Given the description of an element on the screen output the (x, y) to click on. 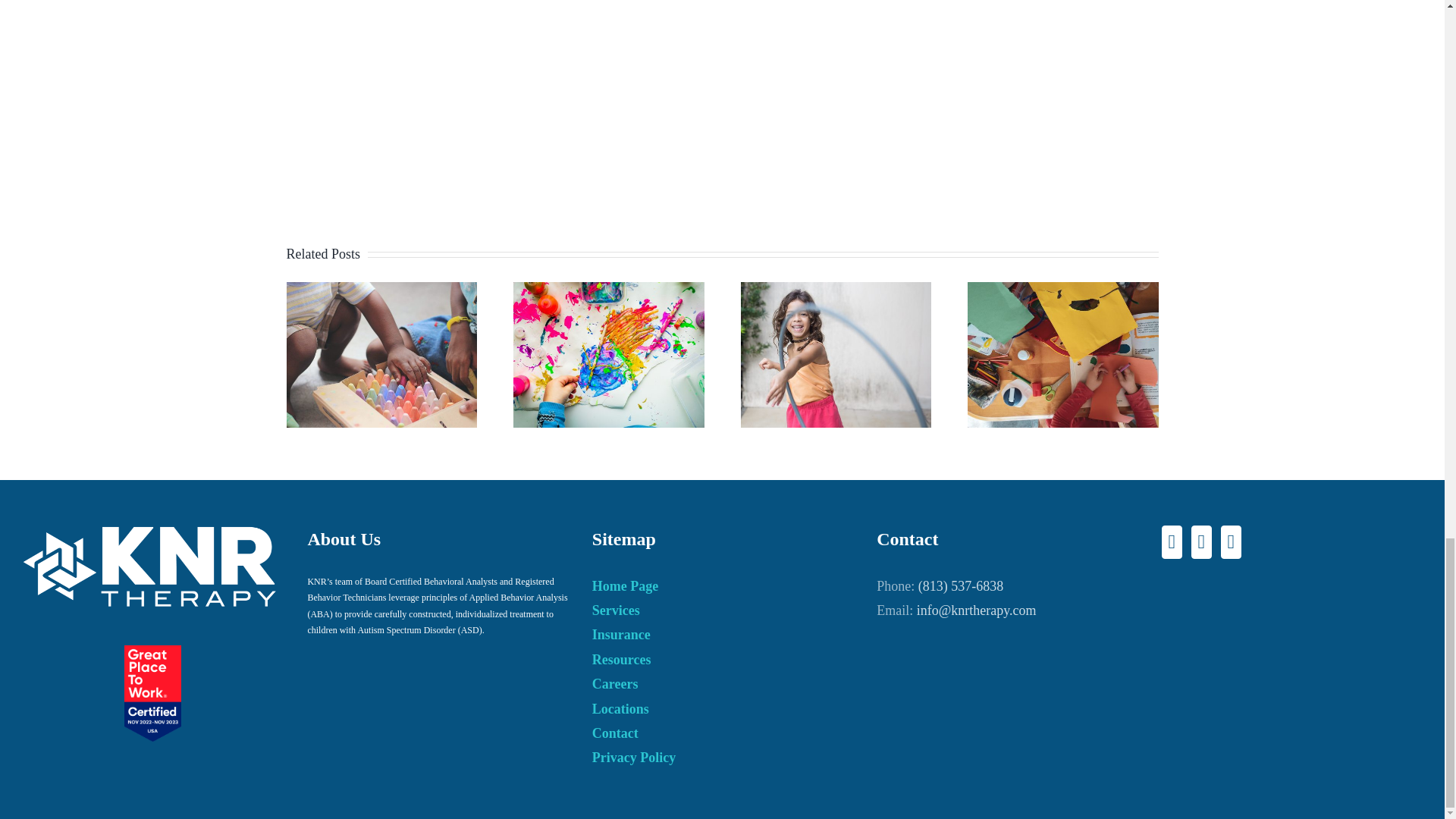
Services (718, 610)
Home Page (718, 586)
Insurance (718, 634)
YouTube video player 1 (722, 93)
